Given the description of an element on the screen output the (x, y) to click on. 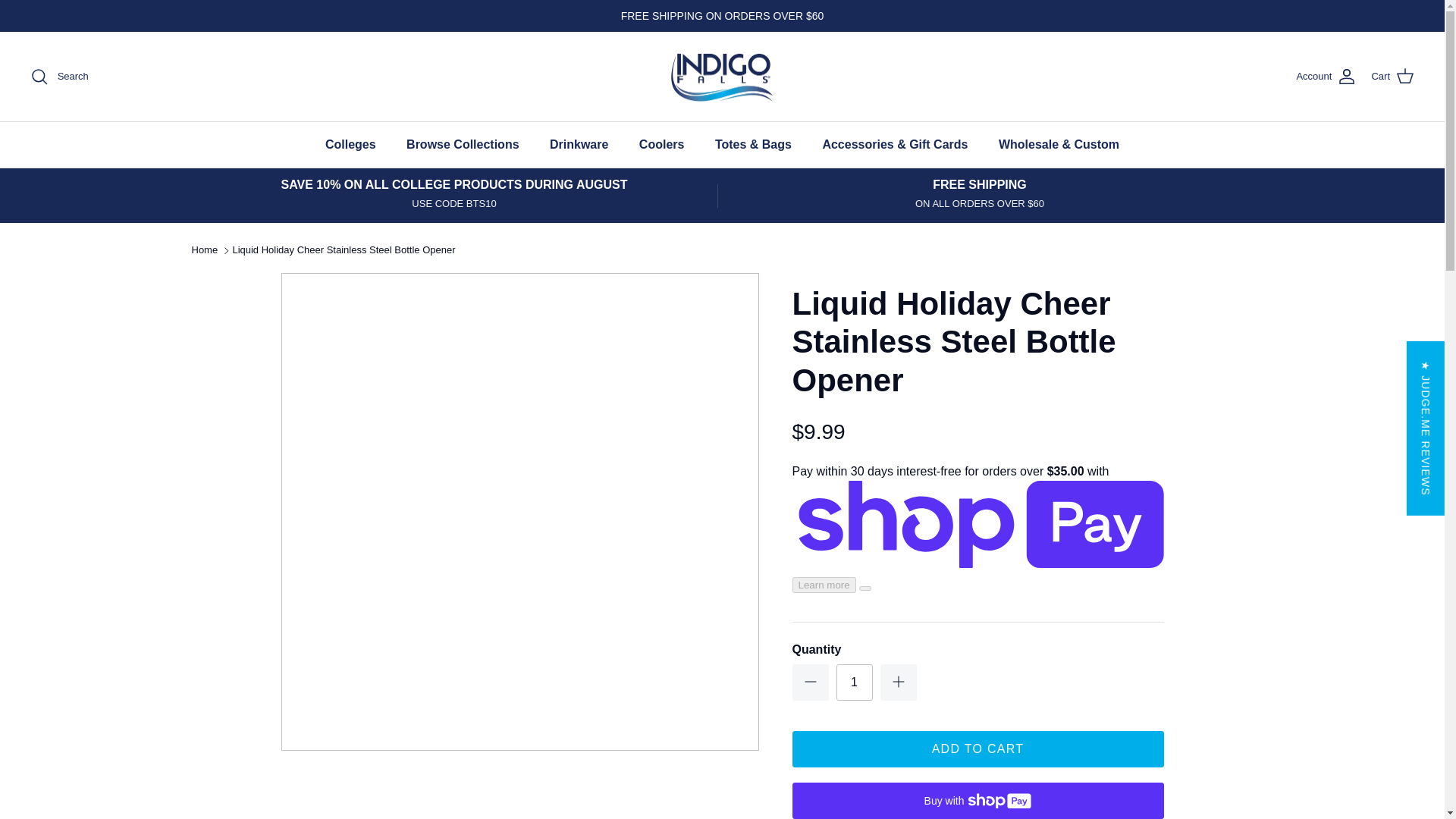
Minus (809, 681)
Cart (1392, 76)
Plus (897, 681)
Search (59, 76)
Indigo Falls (721, 76)
1 (853, 682)
Account (1325, 76)
